Given the description of an element on the screen output the (x, y) to click on. 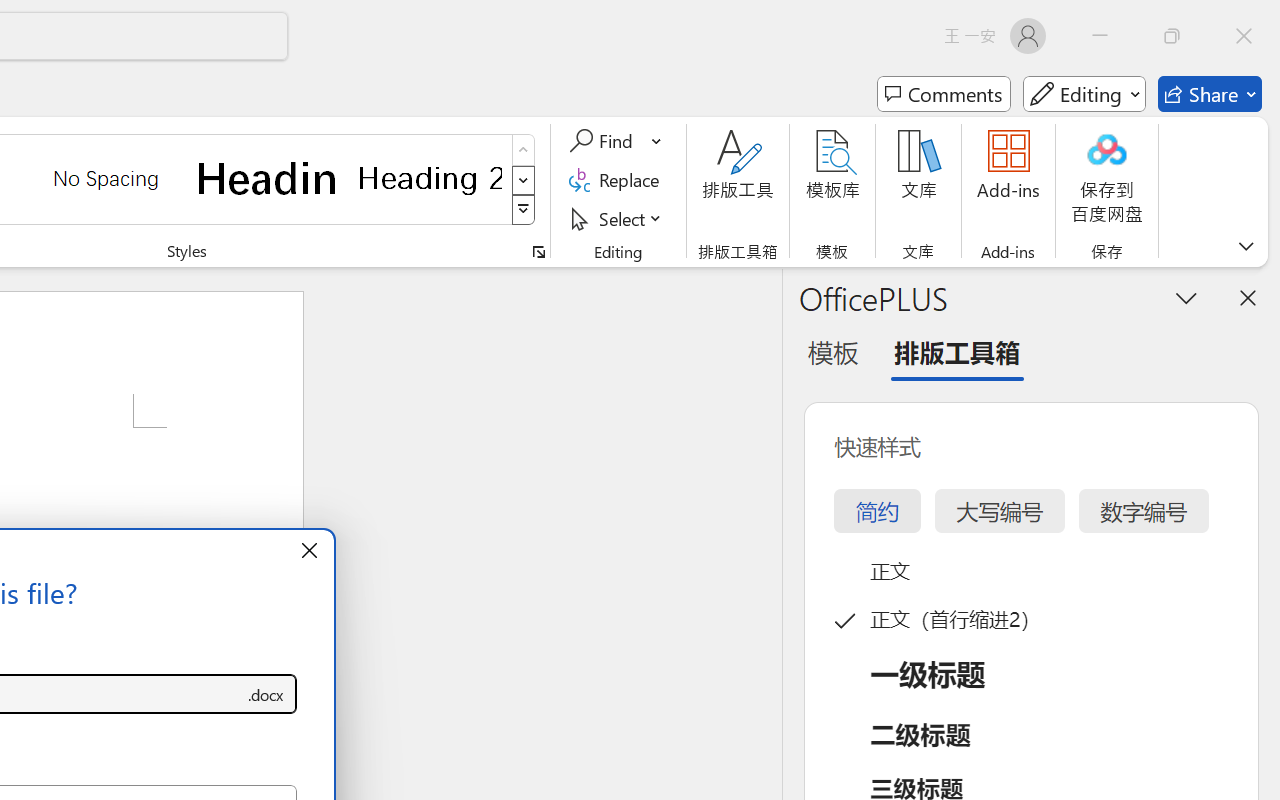
Save as type (265, 694)
